Given the description of an element on the screen output the (x, y) to click on. 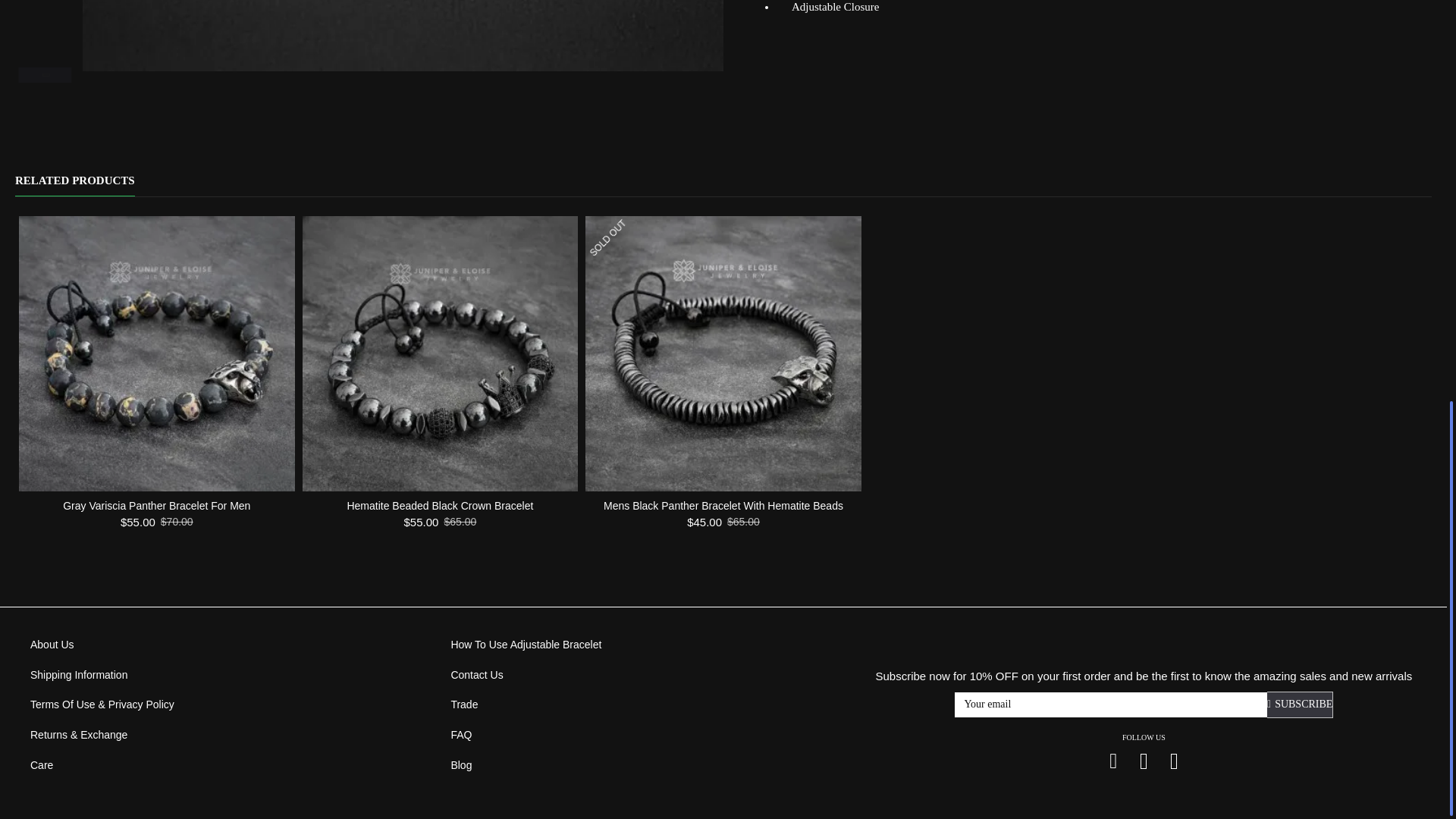
Mens Black Panther Bracelet With Hematite Beads (723, 354)
Mens Panther Bracelet With Black Zircon Spacer Beads (402, 35)
Gray Variscia Panther Bracelet For Men (156, 354)
Hematite Beaded Black Crown Bracelet (440, 354)
